Given the description of an element on the screen output the (x, y) to click on. 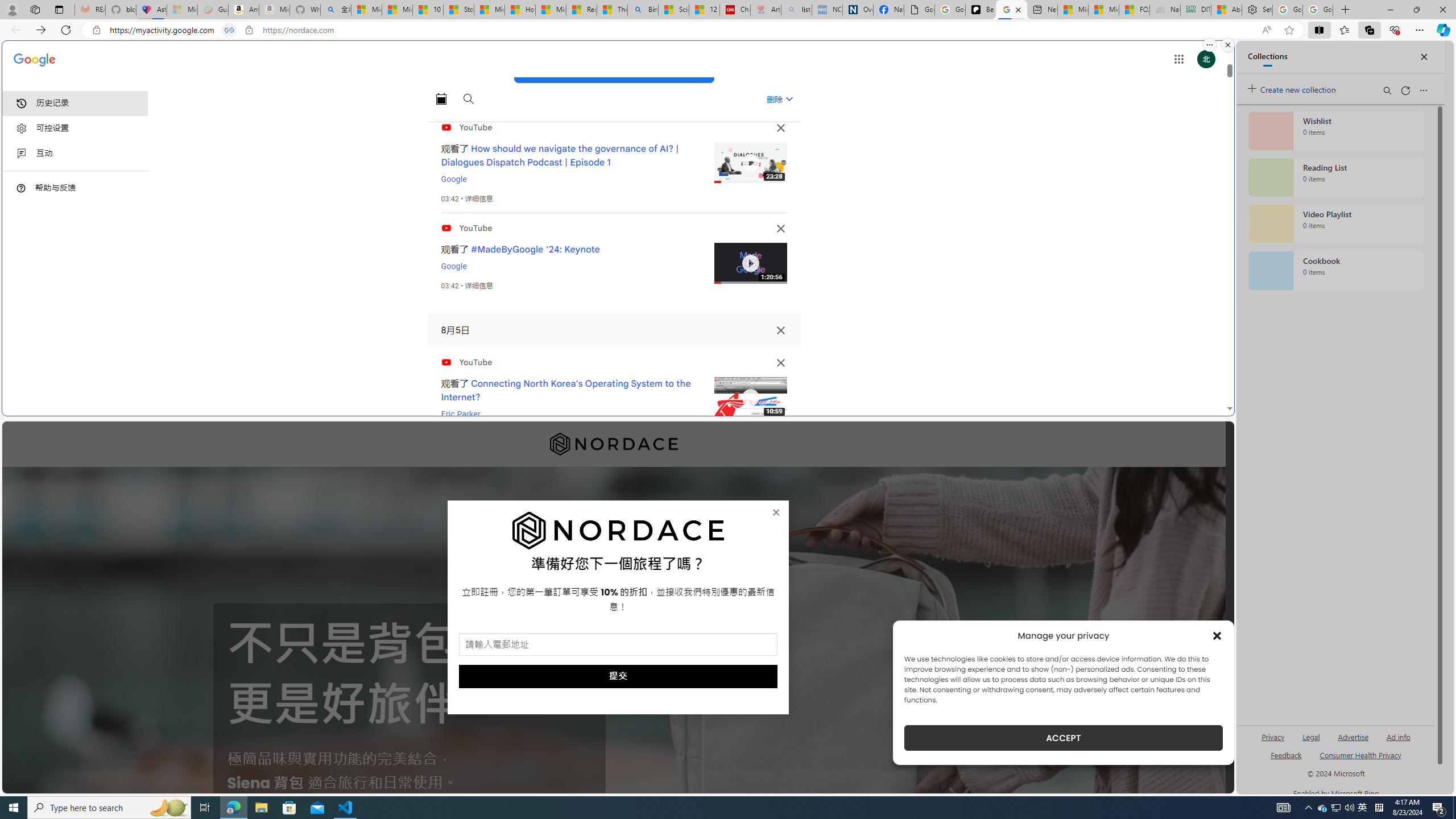
How I Got Rid of Microsoft Edge's Unnecessary Features (519, 9)
Navy Quest (1164, 9)
Recipes - MSN (581, 9)
Microsoft account | Privacy (366, 9)
Class: gb_E (1178, 59)
Aberdeen, Hong Kong SAR hourly forecast | Microsoft Weather (1226, 9)
list of asthma inhalers uk - Search - Sleeping (796, 9)
AutomationID: sb_feedback (1286, 754)
